Given the description of an element on the screen output the (x, y) to click on. 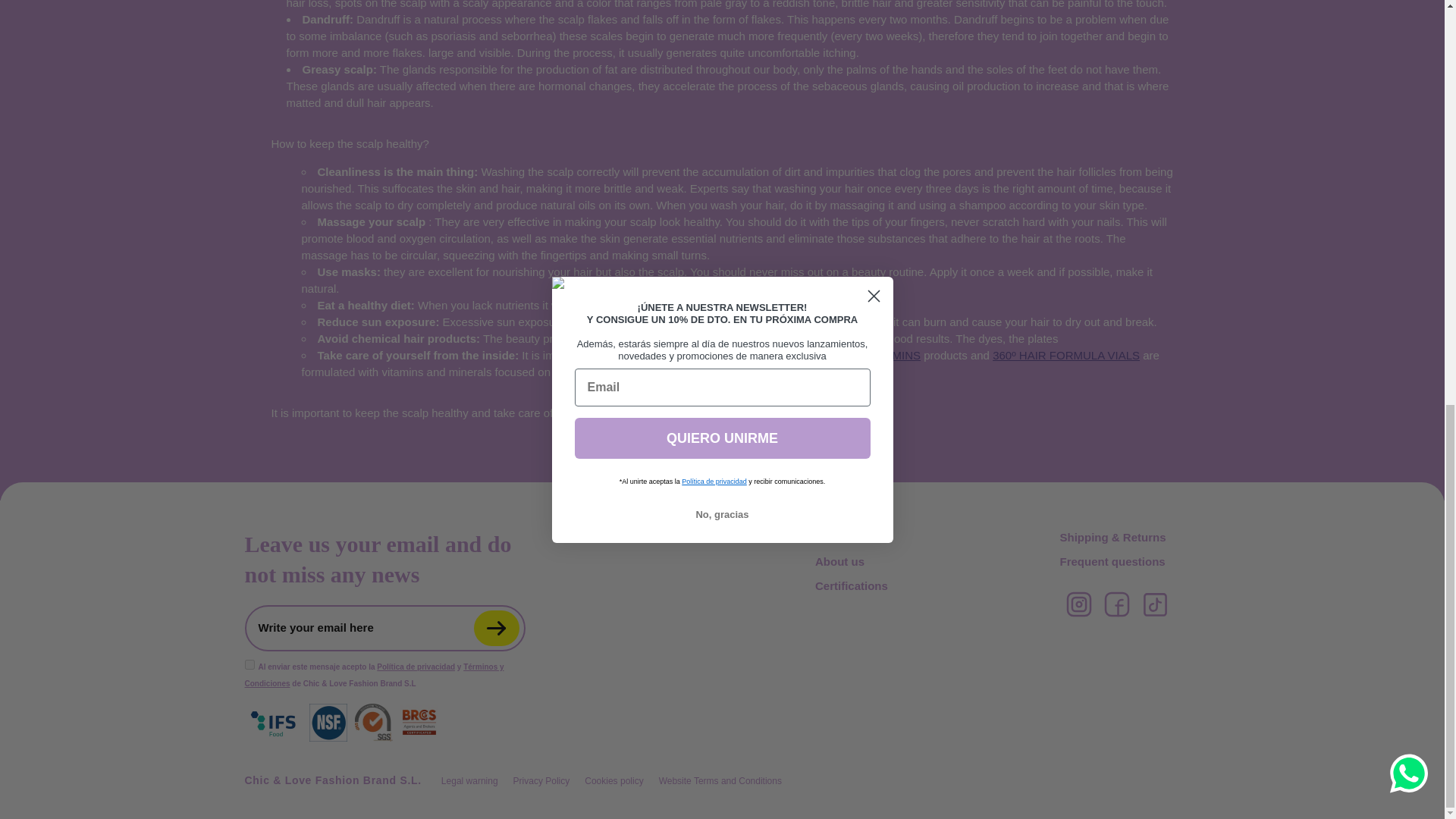
policy (248, 664)
